Given the description of an element on the screen output the (x, y) to click on. 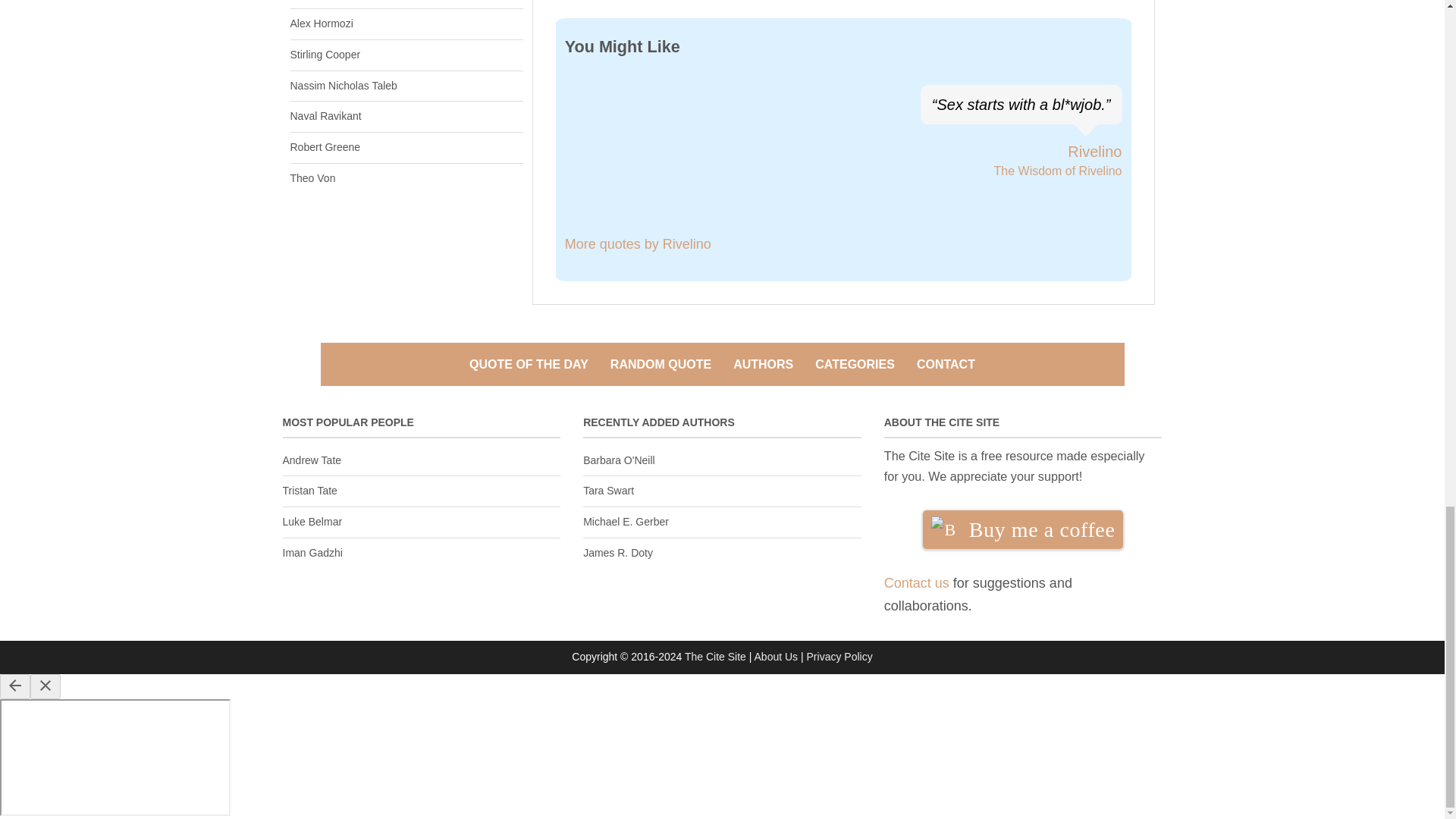
More quotes by Rivelino (637, 243)
Rivelino (1094, 151)
More Rivelino quotes (1094, 151)
The Wisdom of Rivelino (1058, 170)
